Given the description of an element on the screen output the (x, y) to click on. 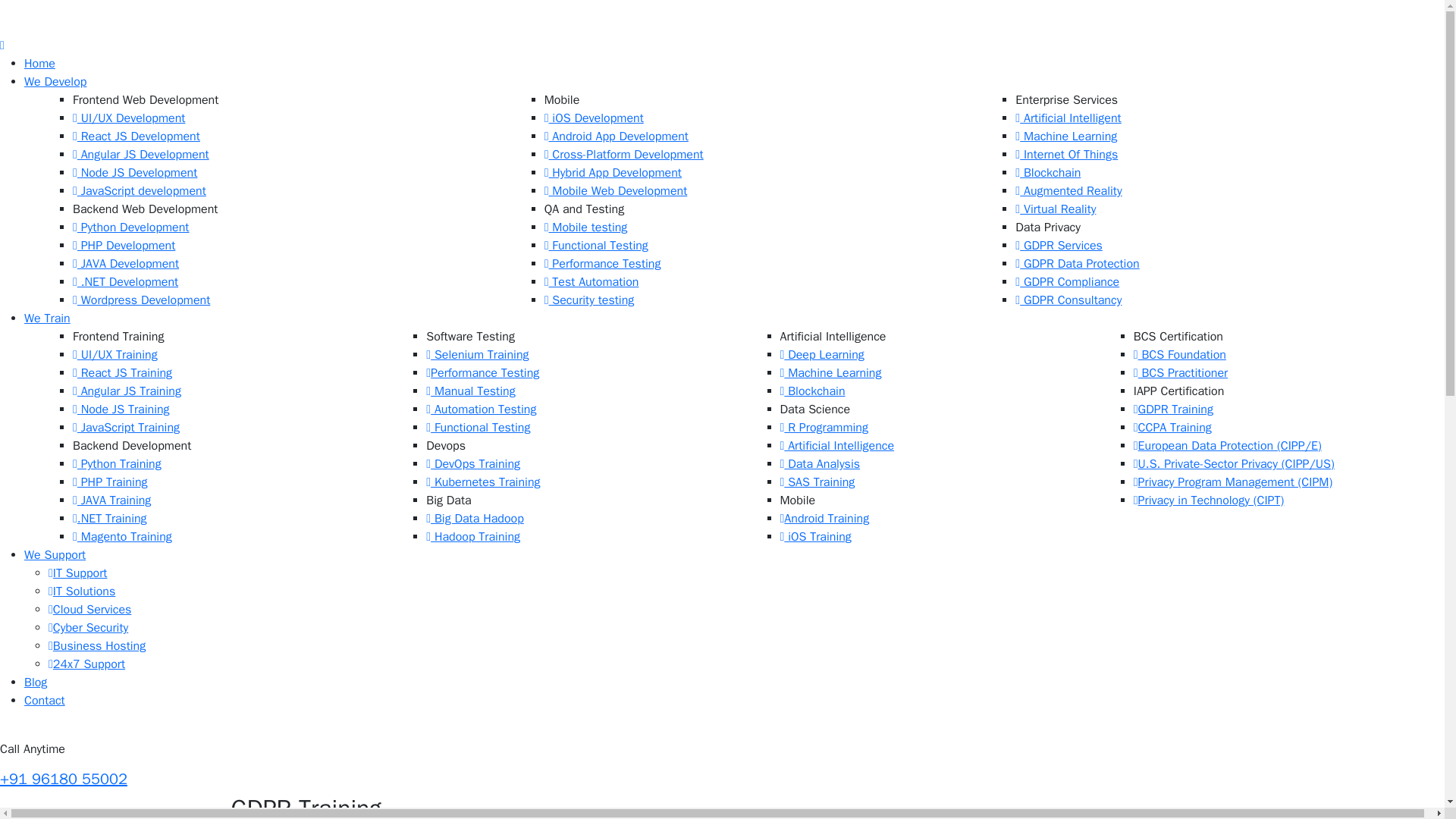
Virtual Reality (1055, 209)
Test Automation (591, 281)
We Train (46, 318)
GDPR Services (1058, 245)
Mobile testing (585, 227)
Augmented Reality (1067, 191)
JavaScript development (139, 191)
Angular JS Training (126, 391)
Node JS Training (121, 409)
GDPR Data Protection (1076, 263)
React JS Development (136, 136)
Angular JS Development (140, 154)
Artificial Intelligent (1067, 118)
Cross-Platform Development (623, 154)
Home (39, 63)
